Given the description of an element on the screen output the (x, y) to click on. 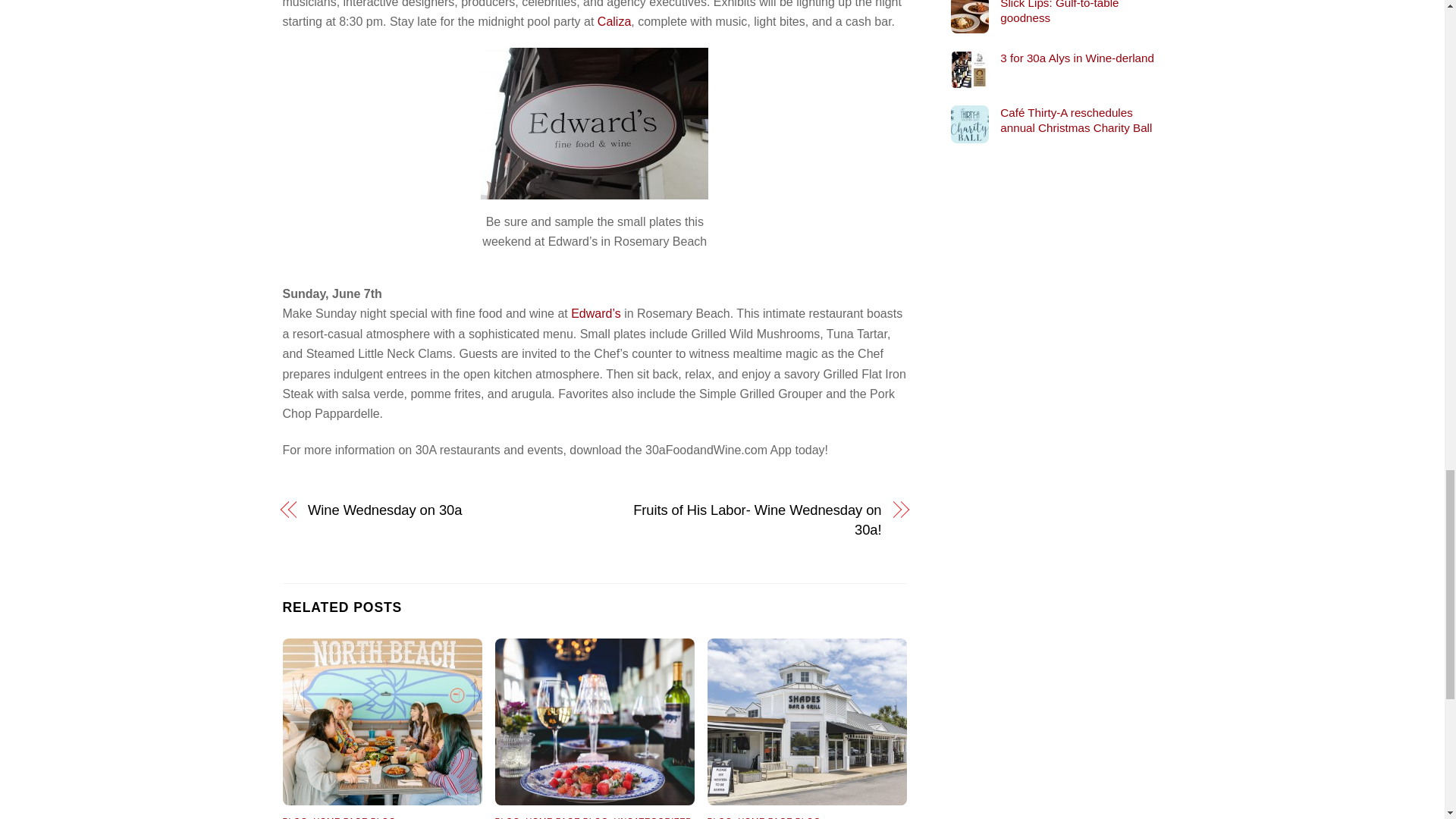
Caliza (613, 21)
BLOG (294, 817)
image0 copy 2-web (595, 721)
HOME PAGE BLOG (354, 817)
Wine Wednesday on 30a (441, 510)
shades-spring-2021-073-web (807, 721)
Fruits of His Labor- Wine Wednesday on 30a! (746, 520)
BLOG (507, 817)
